Given the description of an element on the screen output the (x, y) to click on. 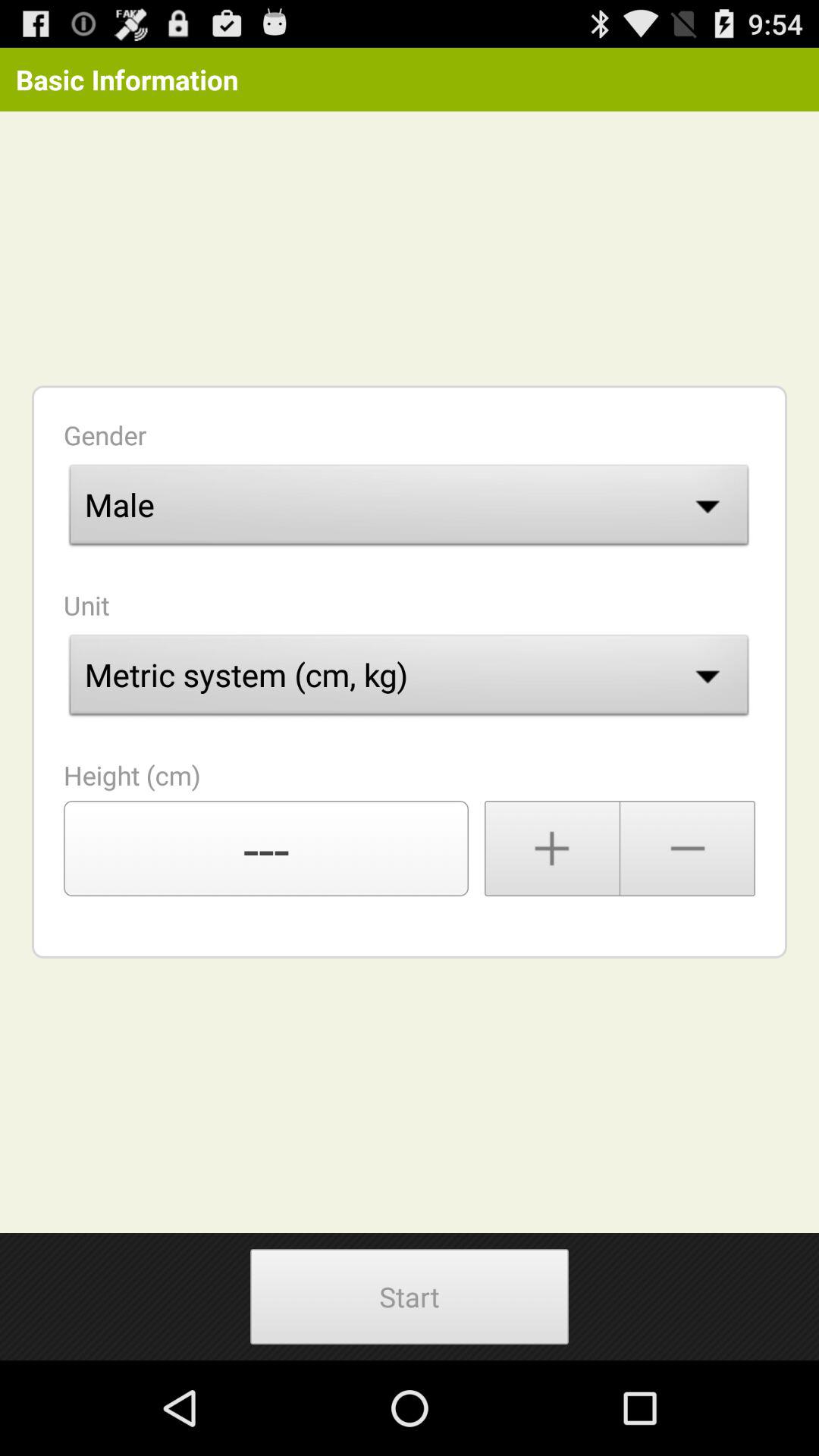
turn off start button (409, 1296)
